Given the description of an element on the screen output the (x, y) to click on. 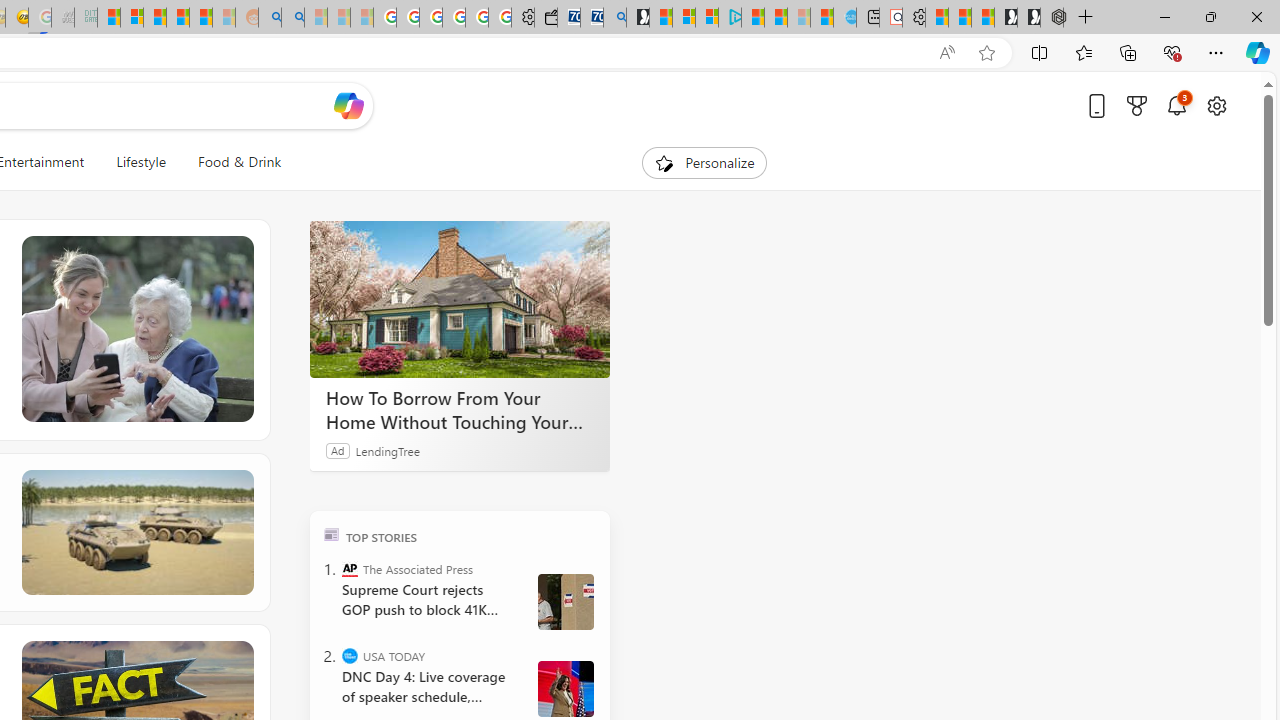
Utah sues federal government - Search (292, 17)
